Given the description of an element on the screen output the (x, y) to click on. 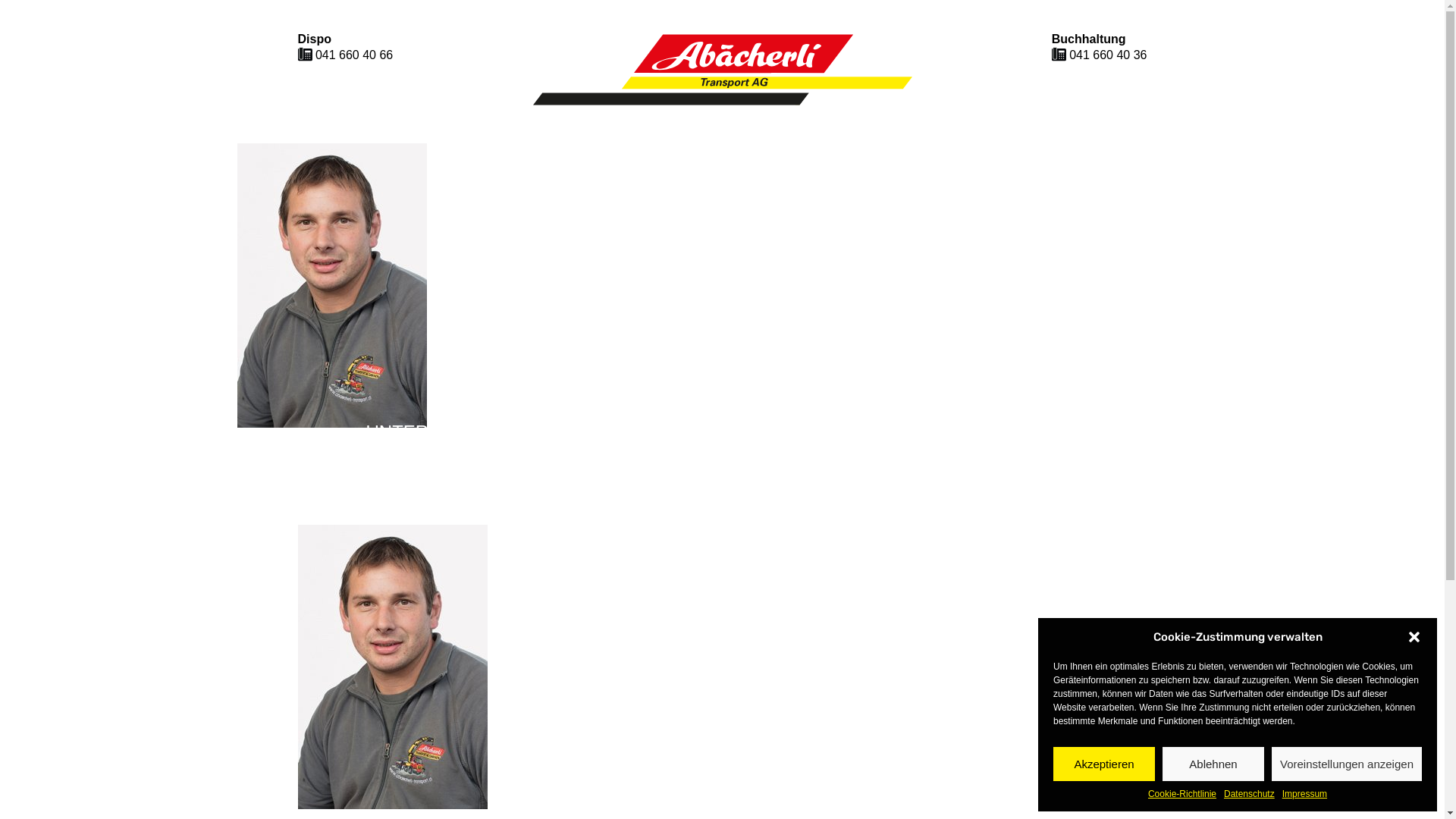
Impressum Element type: text (1304, 794)
KONTAKT Element type: text (1036, 431)
Cookie-Richtlinie Element type: text (1182, 794)
Ablehnen Element type: text (1213, 763)
041 660 40 66 Element type: text (353, 53)
Voreinstellungen anzeigen Element type: text (1346, 763)
GALERIE Element type: text (867, 431)
041 660 40 36 Element type: text (1107, 53)
UNTERNEHMEN Element type: text (436, 431)
FAHRZEUGPARK Element type: text (667, 431)
Datenschutz Element type: text (1248, 794)
Akzeptieren Element type: text (1103, 763)
